Given the description of an element on the screen output the (x, y) to click on. 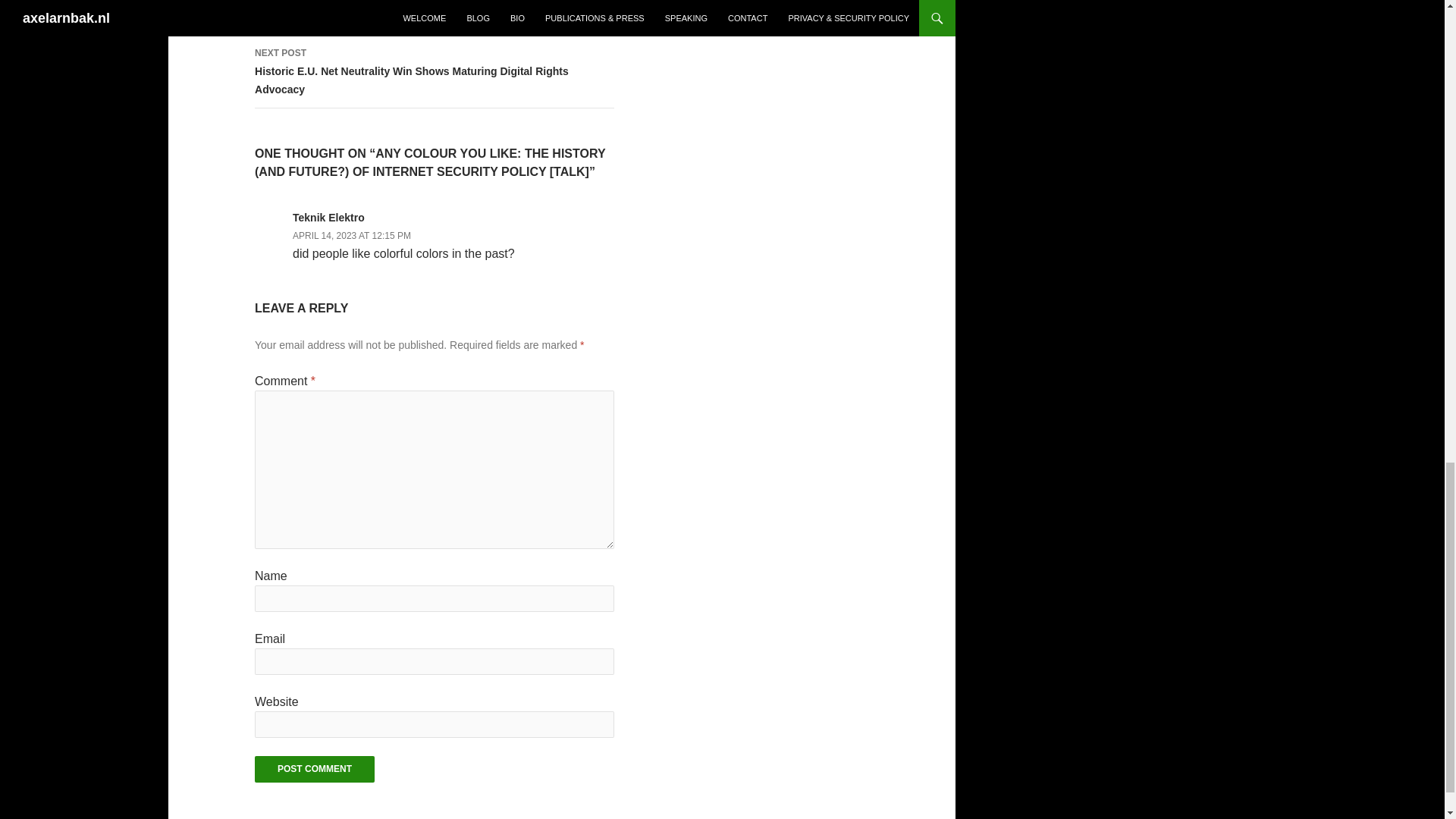
Post Comment (314, 768)
APRIL 14, 2023 AT 12:15 PM (351, 235)
Teknik Elektro (328, 217)
Post Comment (314, 768)
